Given the description of an element on the screen output the (x, y) to click on. 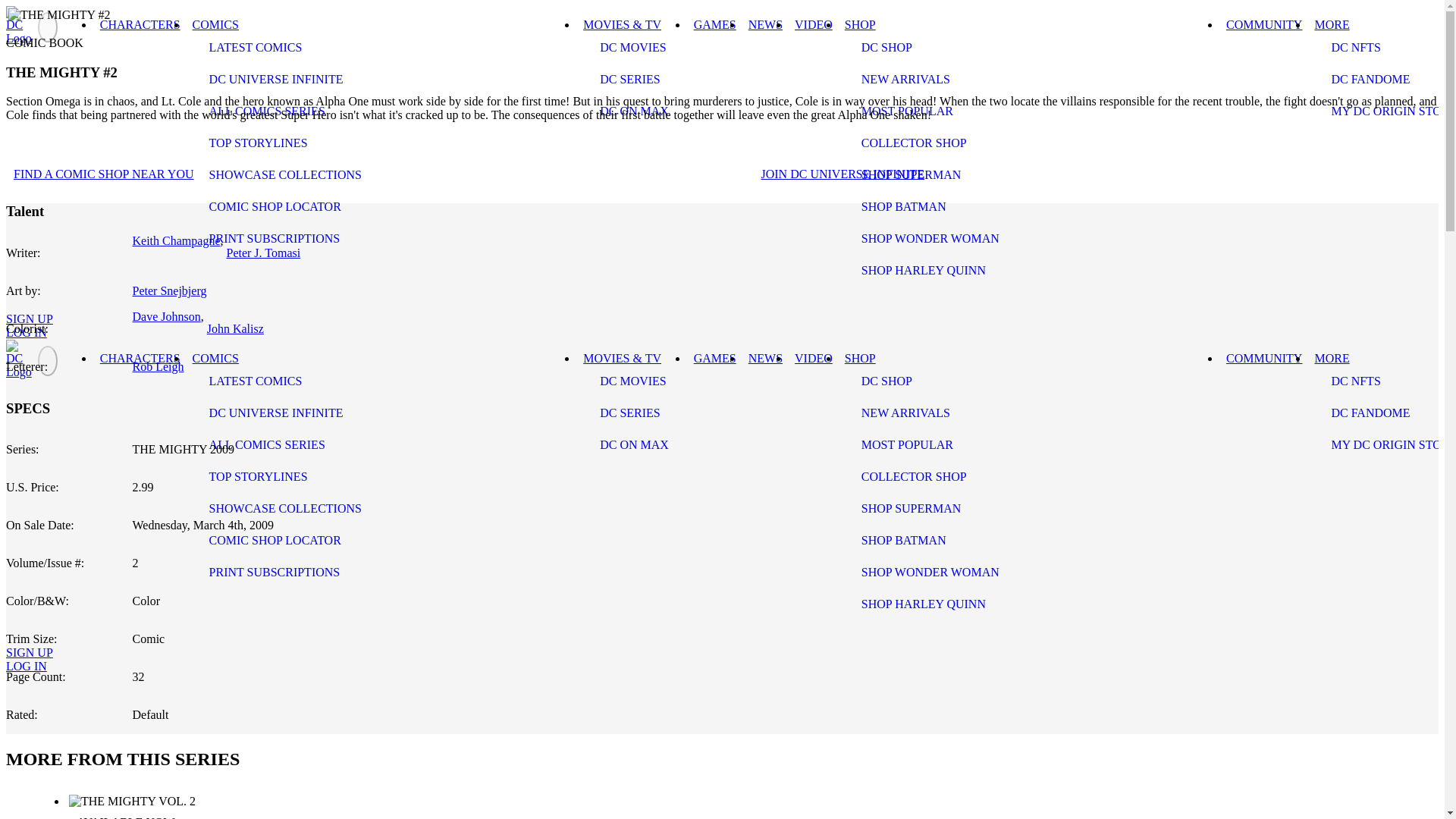
CHARACTERS (140, 358)
GAMES (714, 24)
COMMUNITY (1263, 24)
COMICS (215, 24)
SIGN UP (28, 318)
THE MIGHTY VOL. 2 (739, 806)
VIDEO (813, 24)
THE MIGHTY VOL. 2 (140, 817)
MORE (1331, 24)
Open search (25, 633)
Open search (25, 299)
CHARACTERS (140, 24)
COMICS (215, 358)
LOG IN (25, 332)
